Given the description of an element on the screen output the (x, y) to click on. 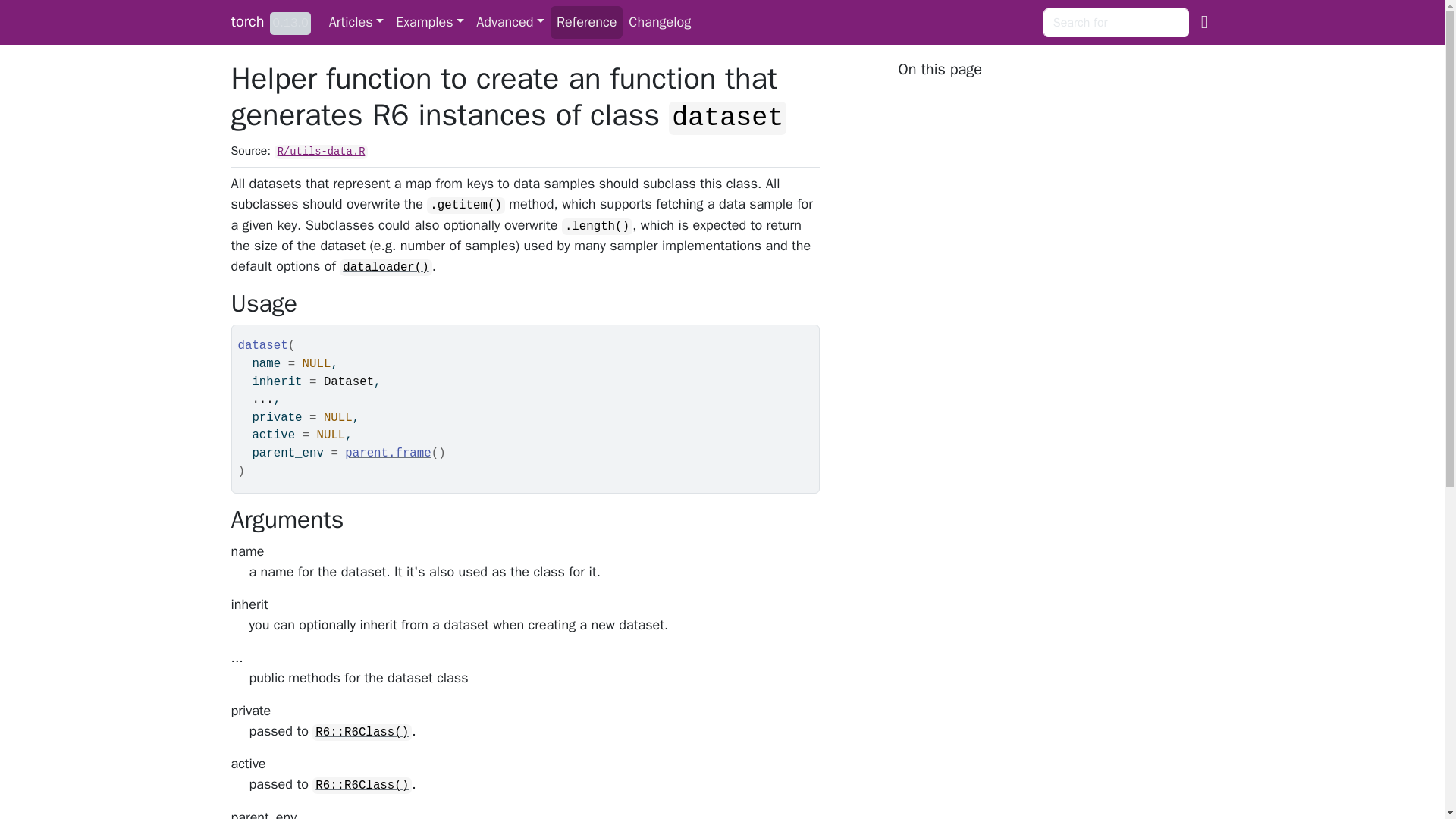
Released version (289, 23)
torch (246, 21)
Articles (356, 21)
Changelog (660, 21)
Advanced (510, 21)
Reference (586, 21)
Examples (430, 21)
parent.frame (387, 453)
